Given the description of an element on the screen output the (x, y) to click on. 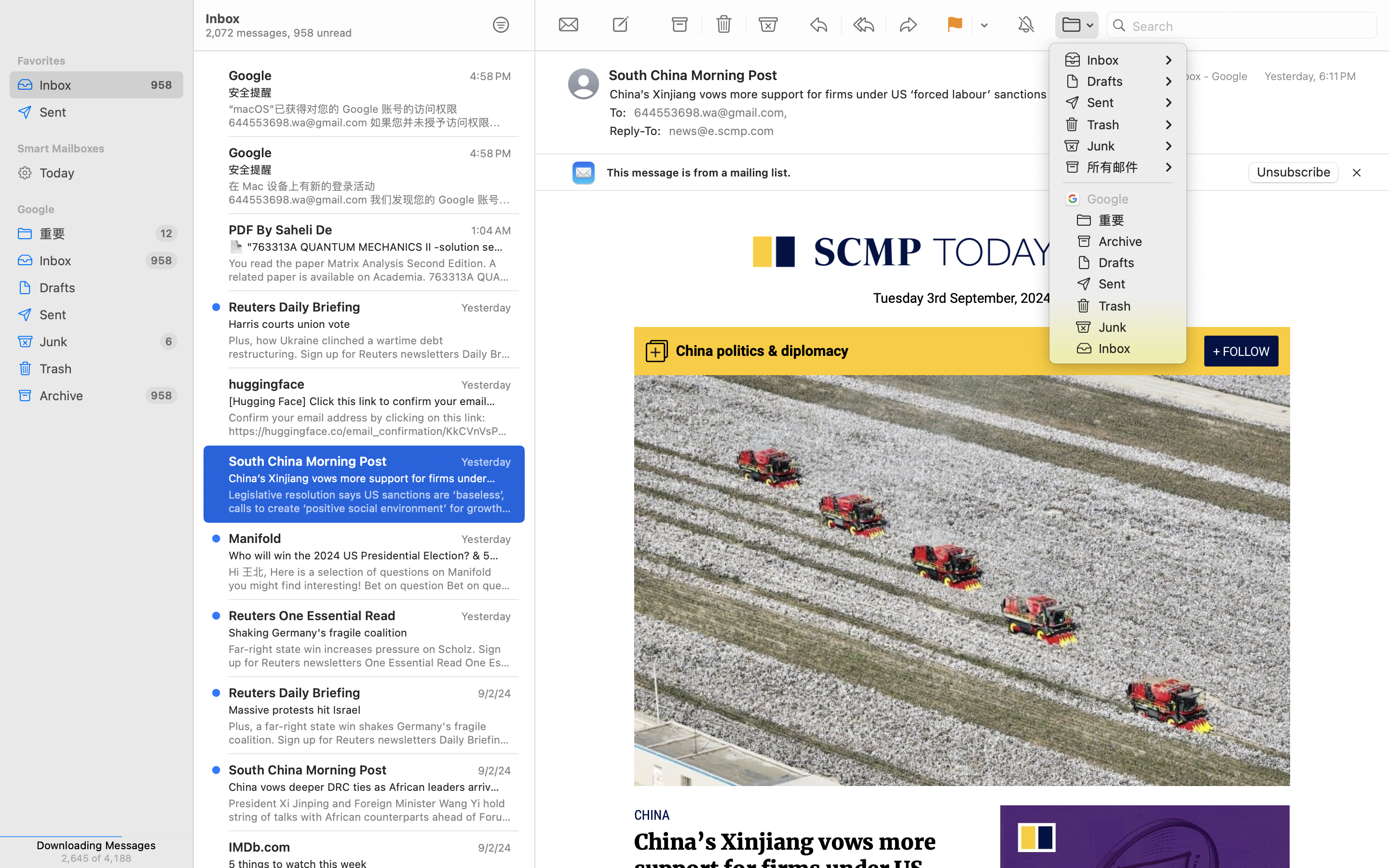
Yesterday Element type: AXStaticText (486, 616)
Harris courts union vote Element type: AXStaticText (365, 323)
Confirm your email address by clicking on this link: https://huggingface.co/email_confirmation/KkCVnVsPgWKdzUnjgsmNfQwgnwKH If you didn't create a Hugging Face account, you can ignore this email. Hugging Face: The AI community building the future. Element type: AXStaticText (369, 423)
Google Element type: AXStaticText (96, 209)
Drafts Element type: AXStaticText (107, 287)
